Given the description of an element on the screen output the (x, y) to click on. 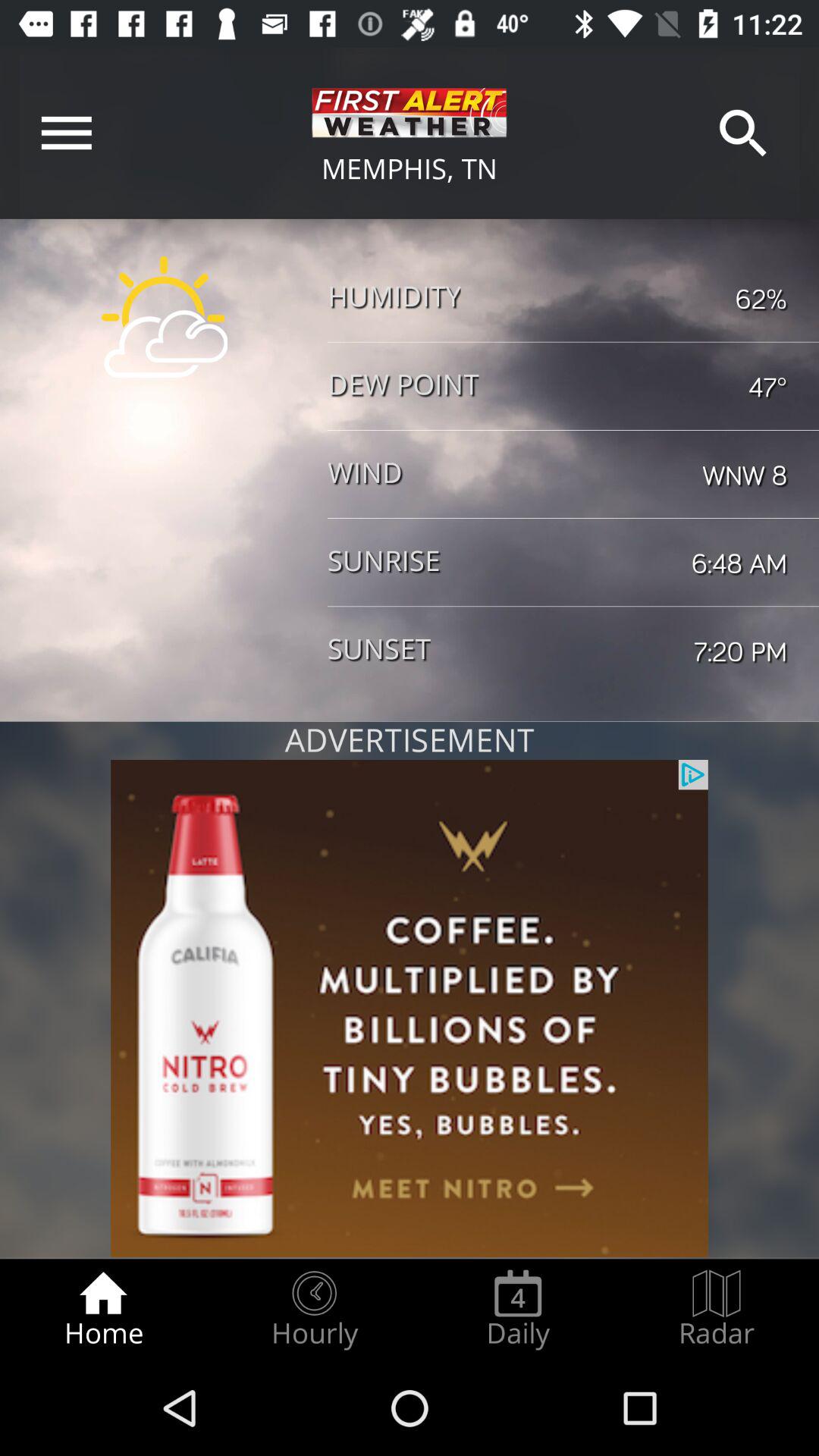
open the radar radio button (716, 1309)
